Given the description of an element on the screen output the (x, y) to click on. 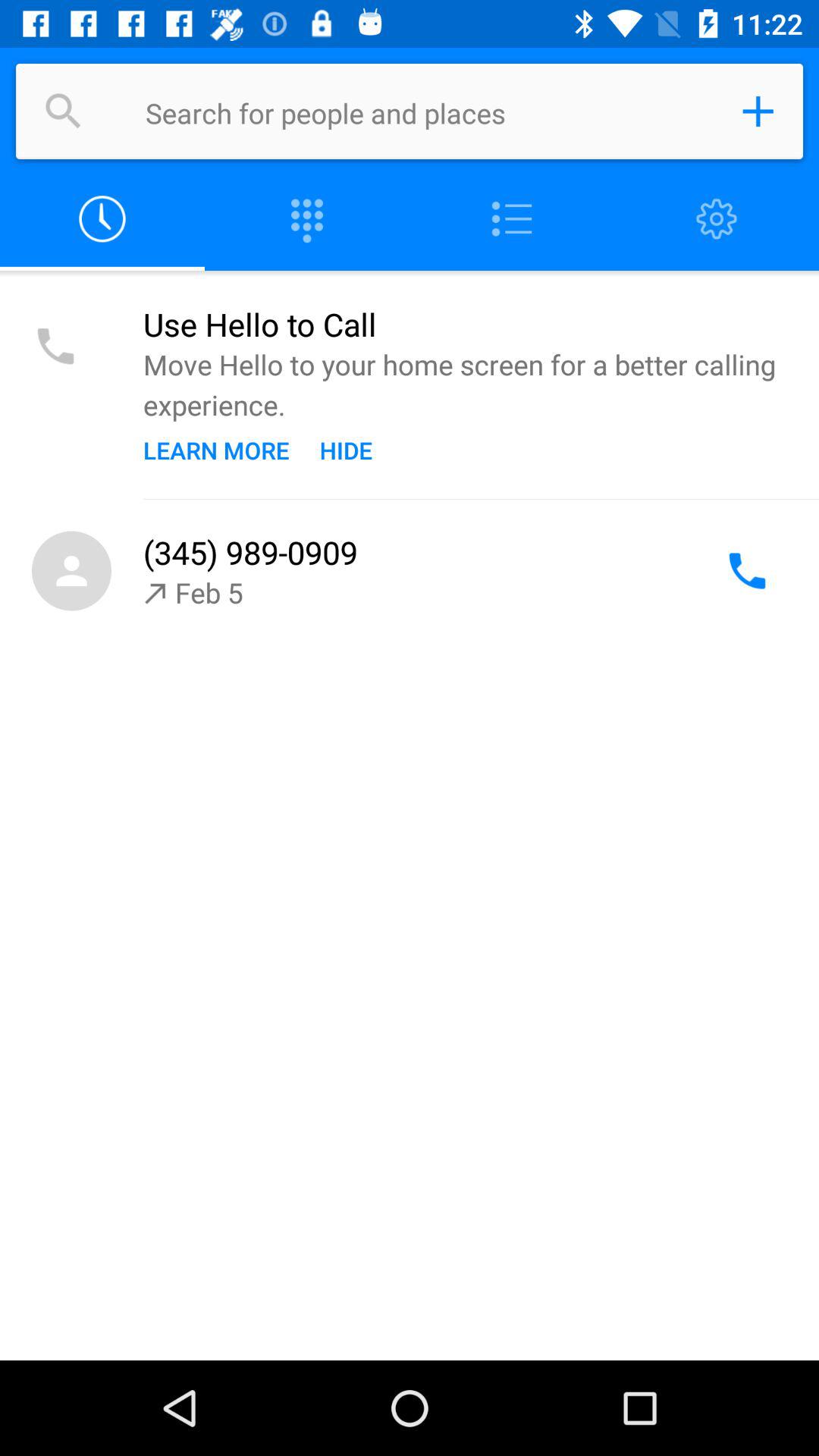
go to settings (716, 219)
